Given the description of an element on the screen output the (x, y) to click on. 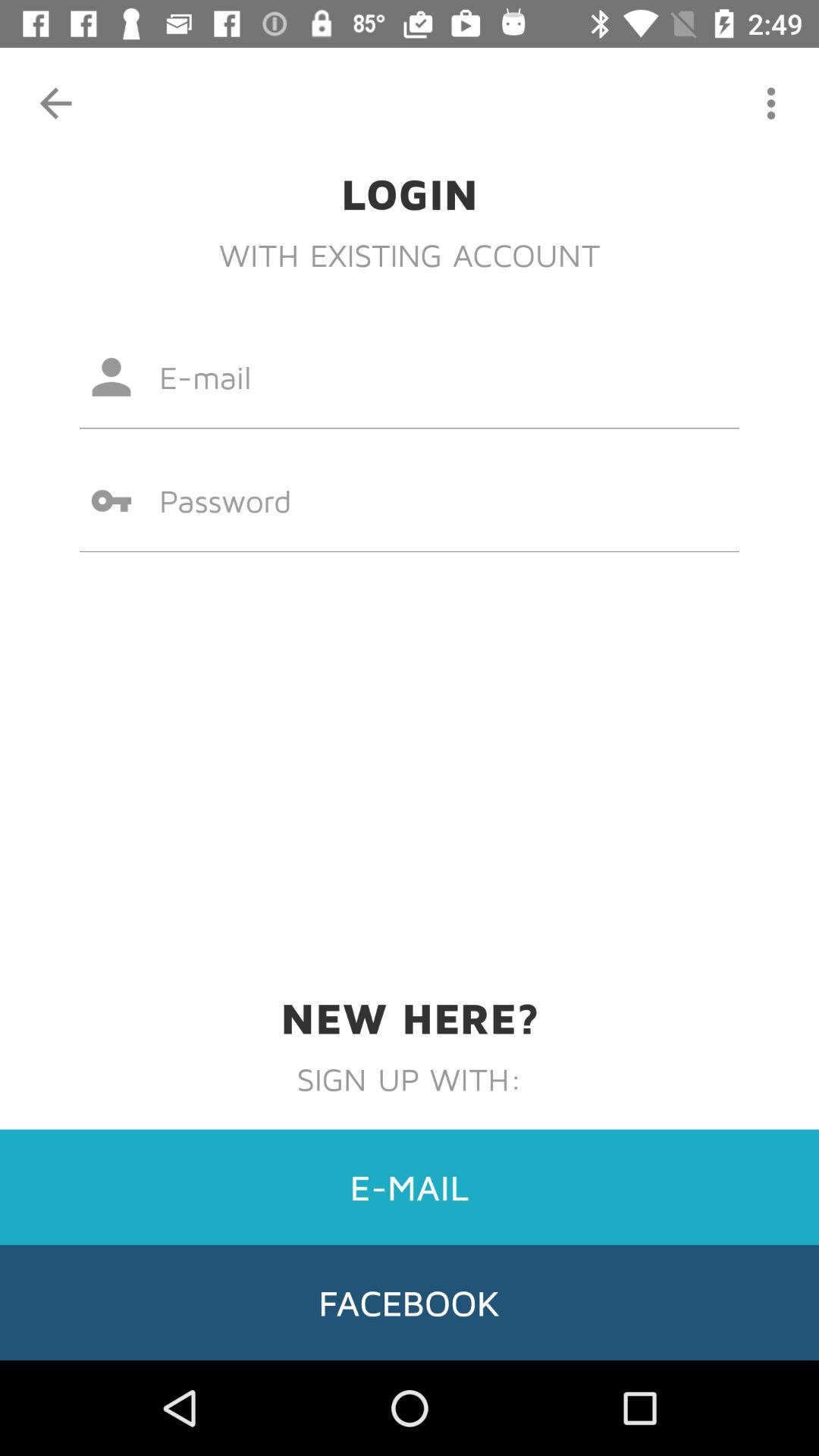
turn off item below sign up with: (409, 1186)
